Given the description of an element on the screen output the (x, y) to click on. 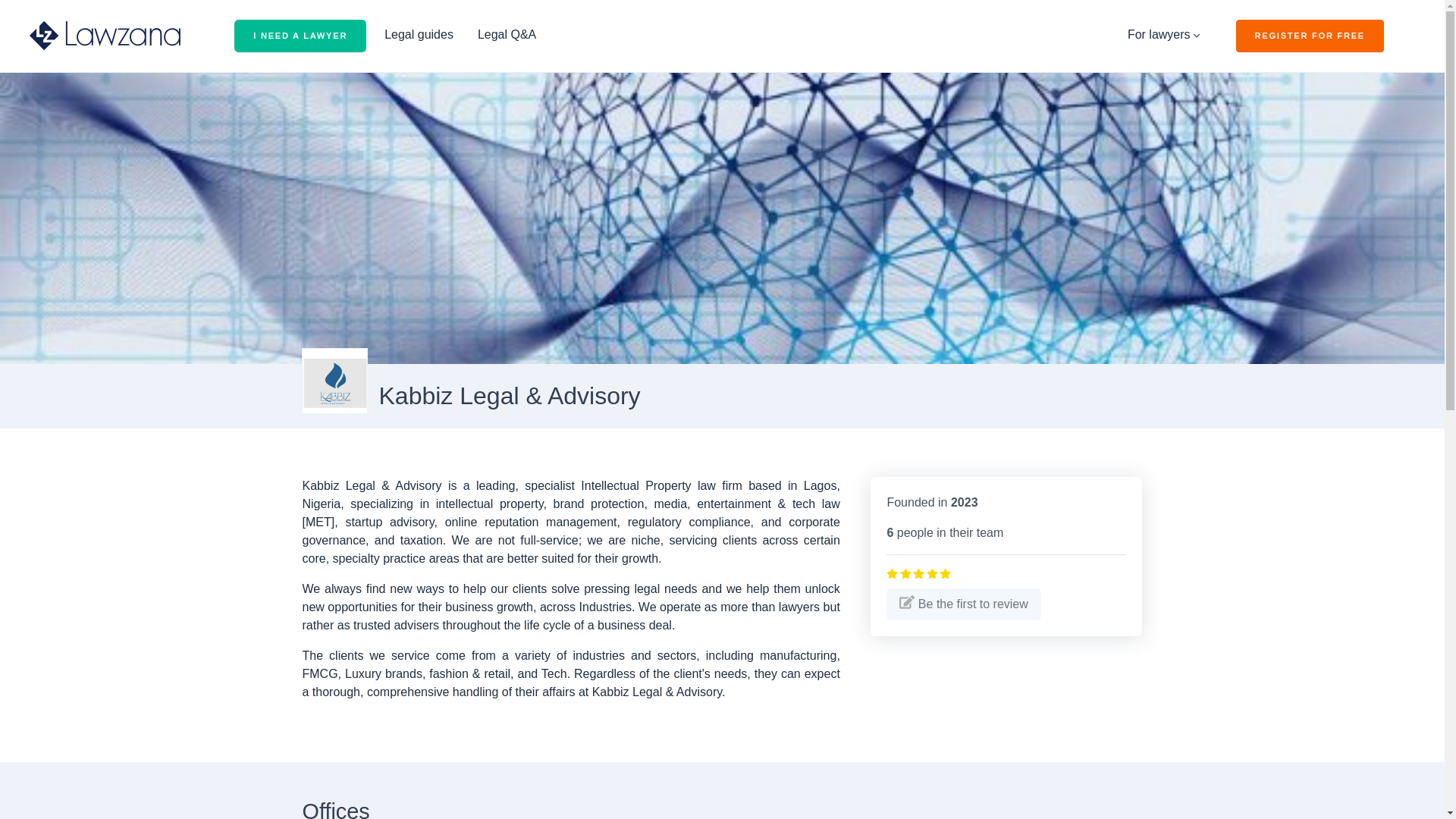
REGISTER FOR FREE (1310, 35)
Legal guides (419, 34)
Be the first to review (963, 603)
